Given the description of an element on the screen output the (x, y) to click on. 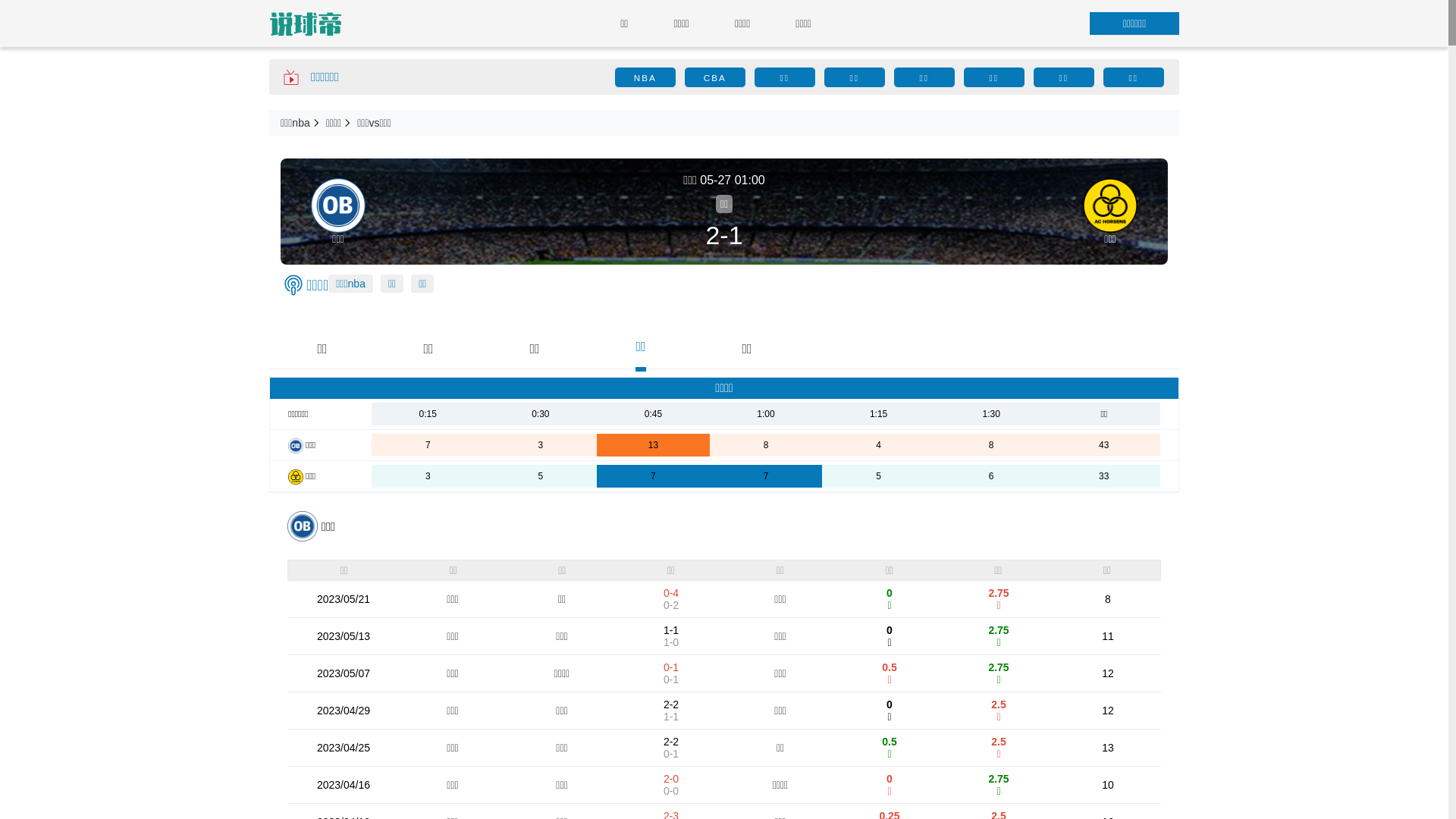
CBA Element type: text (714, 77)
NBA Element type: text (644, 77)
